Given the description of an element on the screen output the (x, y) to click on. 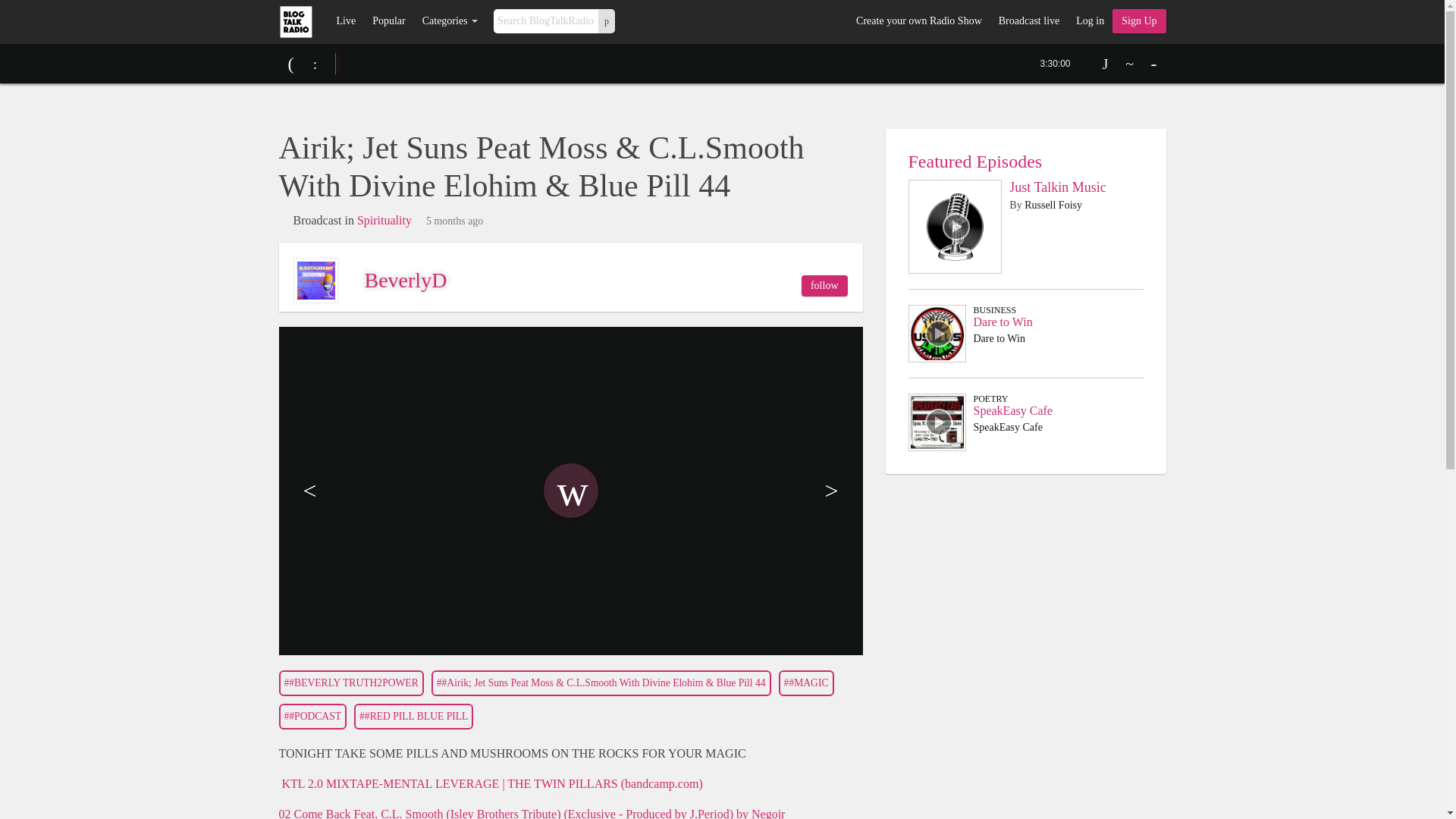
Live (345, 20)
Broadcast live (1028, 20)
Sign Up (1139, 21)
Tue, February 13, 2024 10:00 am (454, 221)
Embed this episode (1129, 63)
Download this episode (1105, 63)
Categories (449, 20)
Log in (1089, 20)
Follow BeverlyD (824, 285)
Create your own Radio Show (918, 20)
Popular (388, 20)
Create My Talk Show (1139, 21)
